Given the description of an element on the screen output the (x, y) to click on. 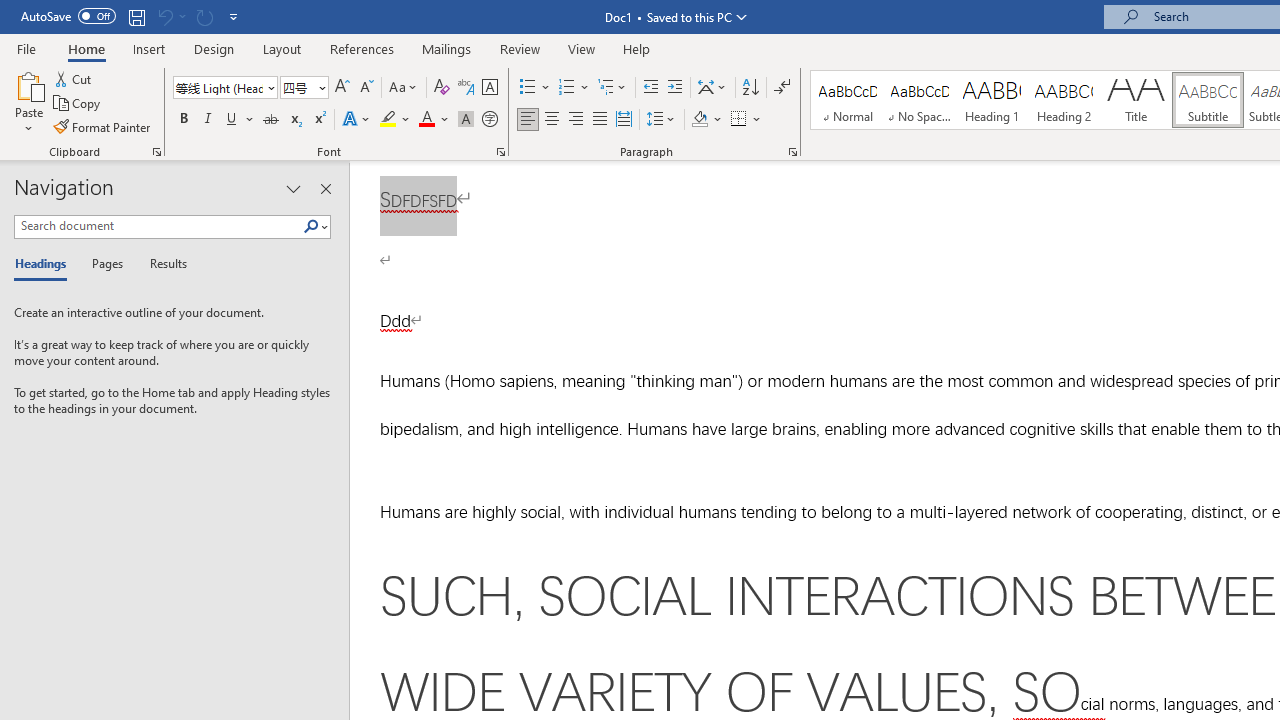
Can't Undo (170, 15)
Can't Undo (164, 15)
Font Color Red (426, 119)
